Given the description of an element on the screen output the (x, y) to click on. 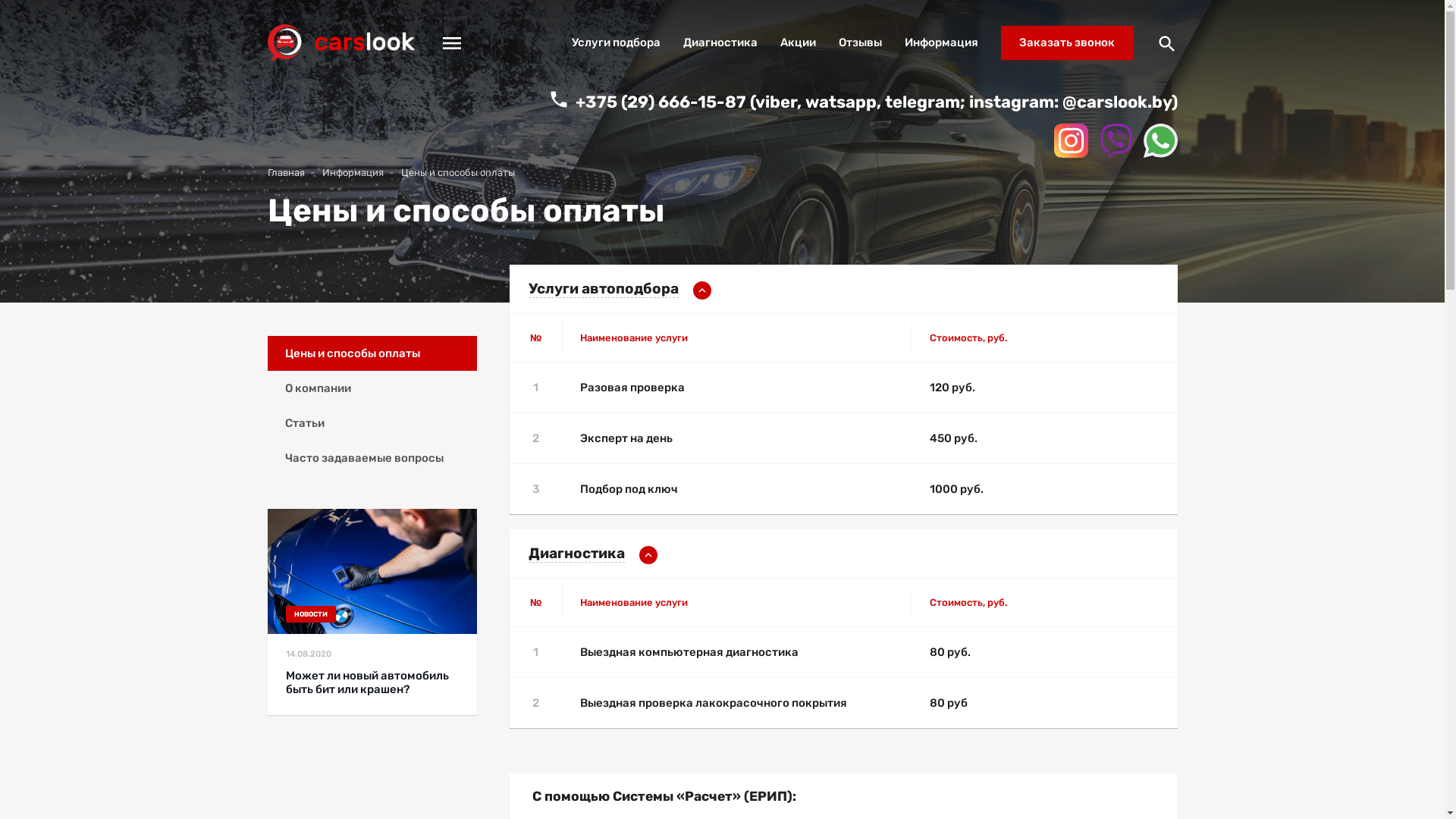
Whatsapp Element type: hover (1159, 143)
Viber Element type: hover (1115, 143)
instagram Element type: hover (1070, 143)
